Given the description of an element on the screen output the (x, y) to click on. 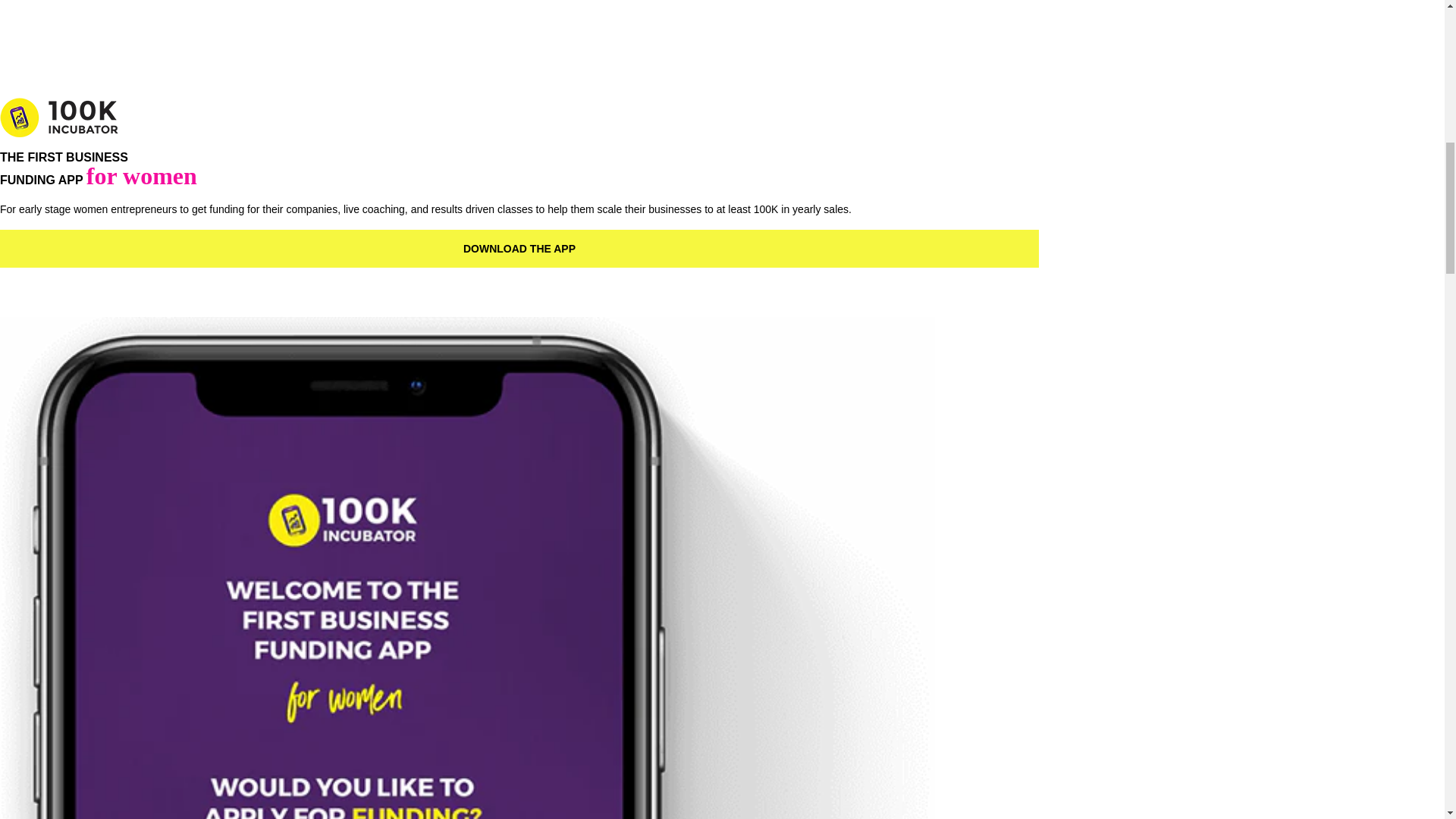
DOWNLOAD THE APP (519, 248)
